Given the description of an element on the screen output the (x, y) to click on. 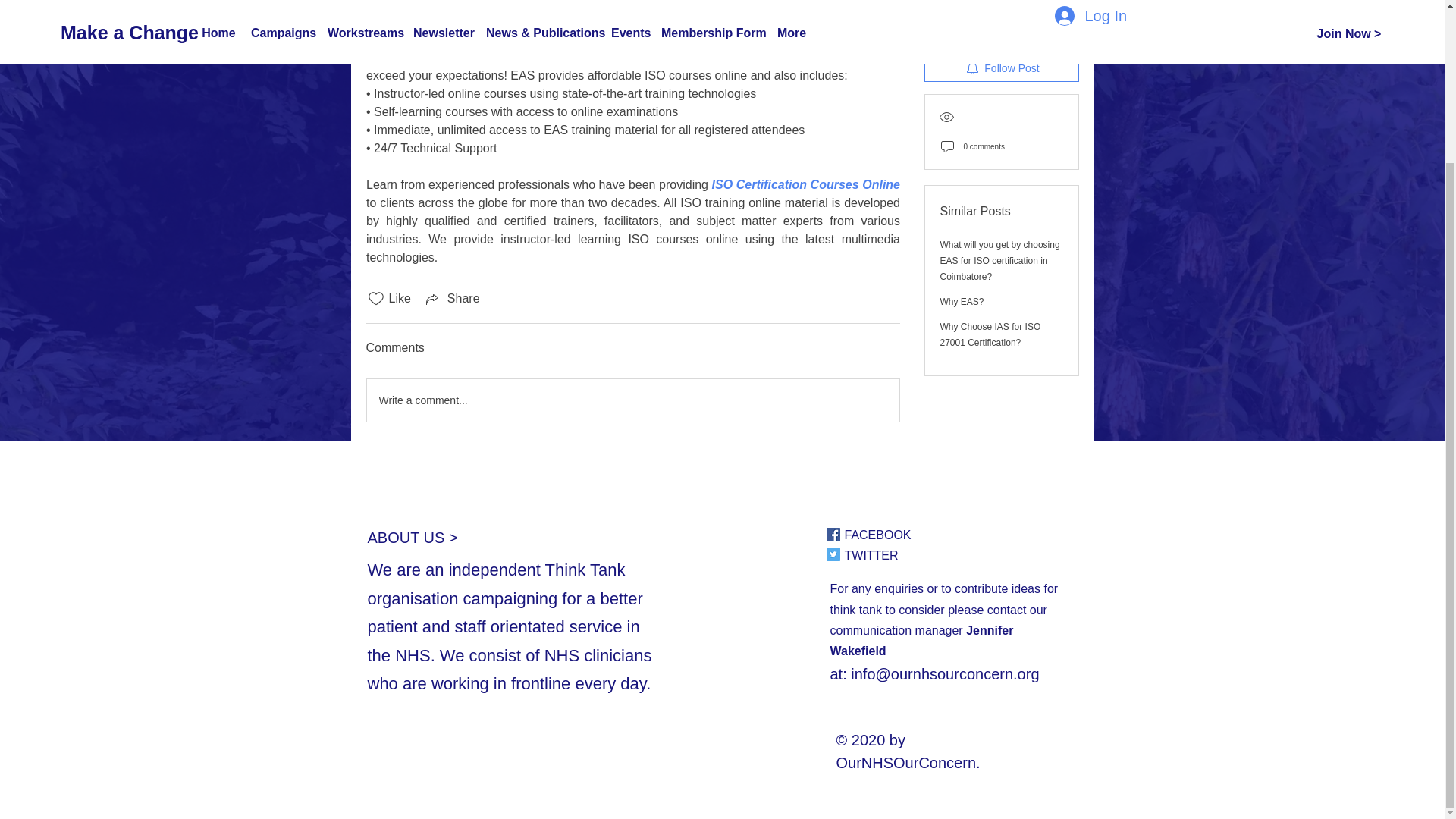
Write a comment... (632, 400)
Why Choose IAS for ISO 27001 Certification? (990, 261)
in General Discussions (427, 28)
Follow Post (1000, 4)
Share (451, 298)
FACEBOOK (877, 534)
ISO Certification Courses Online (805, 184)
Why EAS? (962, 228)
